Given the description of an element on the screen output the (x, y) to click on. 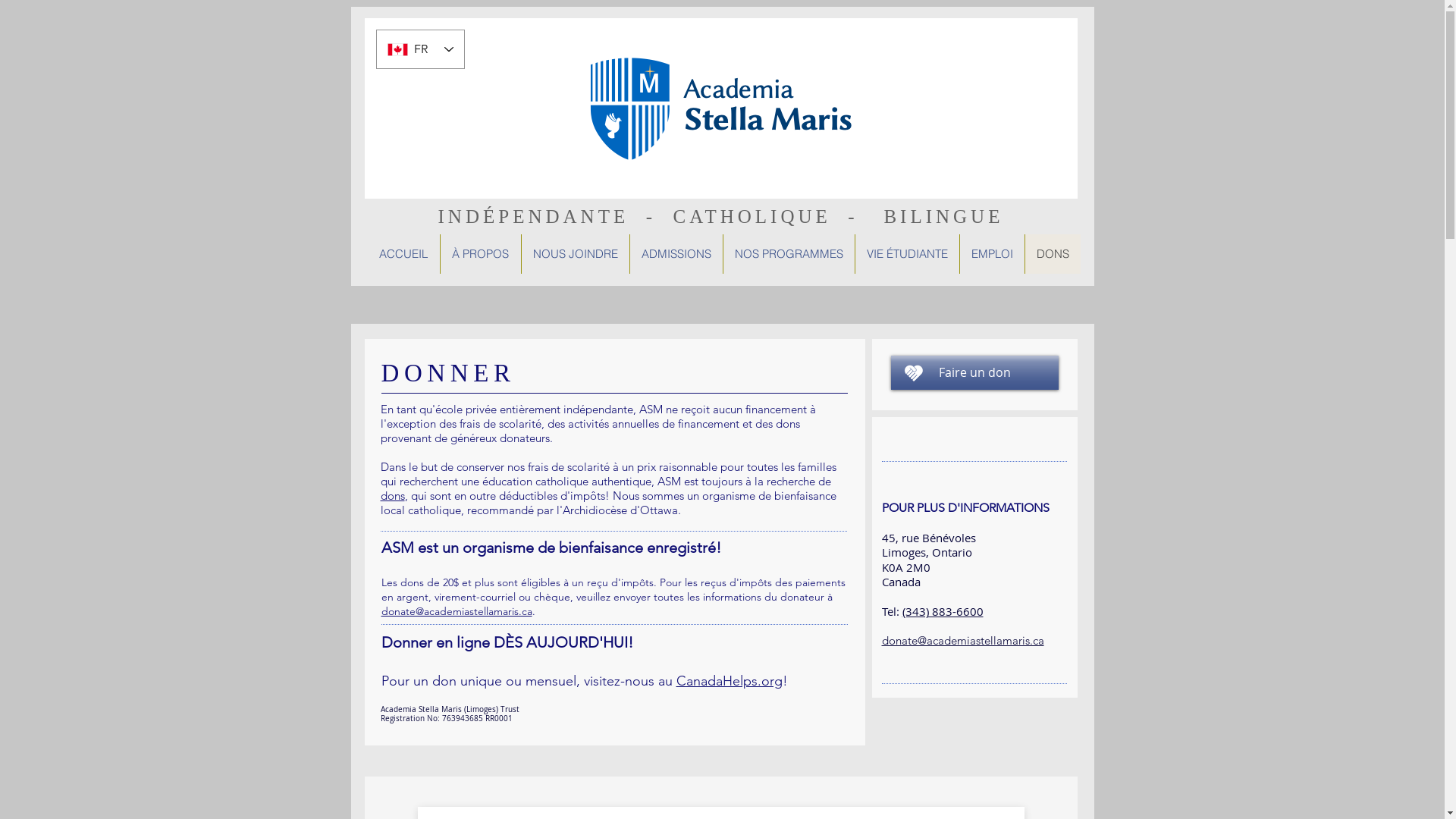
EMPLOI Element type: text (990, 253)
LogoASM2023.png Element type: hover (720, 108)
CanadaHelps.org Element type: text (729, 680)
ADMISSIONS Element type: text (675, 253)
NOS PROGRAMMES Element type: text (787, 253)
dons Element type: text (392, 495)
NOUS JOINDRE Element type: text (574, 253)
DONS Element type: text (1051, 253)
ACCUEIL Element type: text (403, 253)
Faire un don Element type: text (973, 372)
donate@academiastellamaris.ca Element type: text (455, 611)
donate@academiastellamaris.ca Element type: text (962, 640)
(343) 883-6600 Element type: text (942, 610)
